Given the description of an element on the screen output the (x, y) to click on. 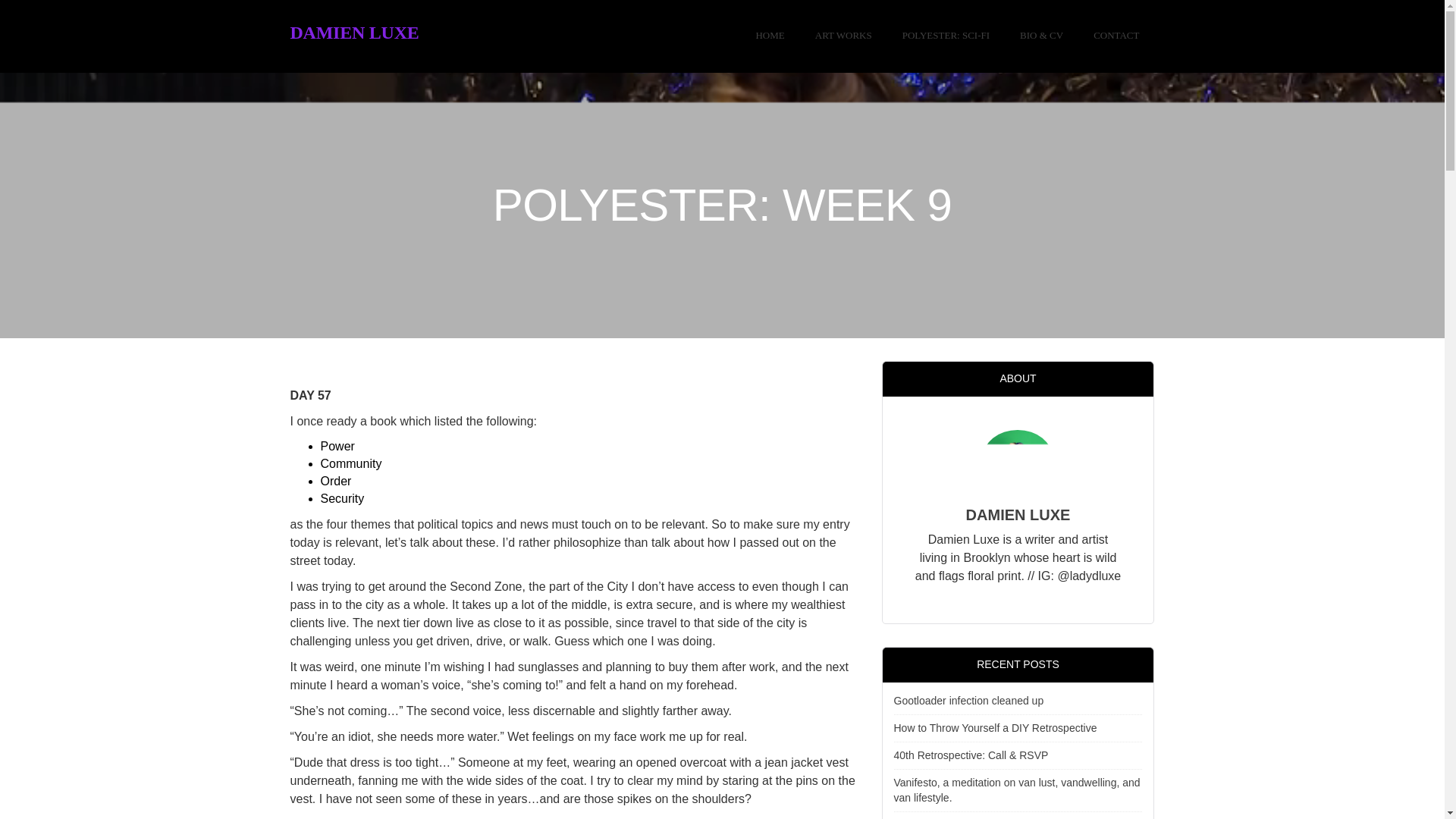
ART WORKS (842, 35)
How to Throw Yourself a DIY Retrospective (994, 727)
CONTACT (1116, 35)
DAMIEN LUXE (354, 32)
HOME (769, 35)
POLYESTER: SCI-FI (945, 35)
Gootloader infection cleaned up (968, 700)
